Given the description of an element on the screen output the (x, y) to click on. 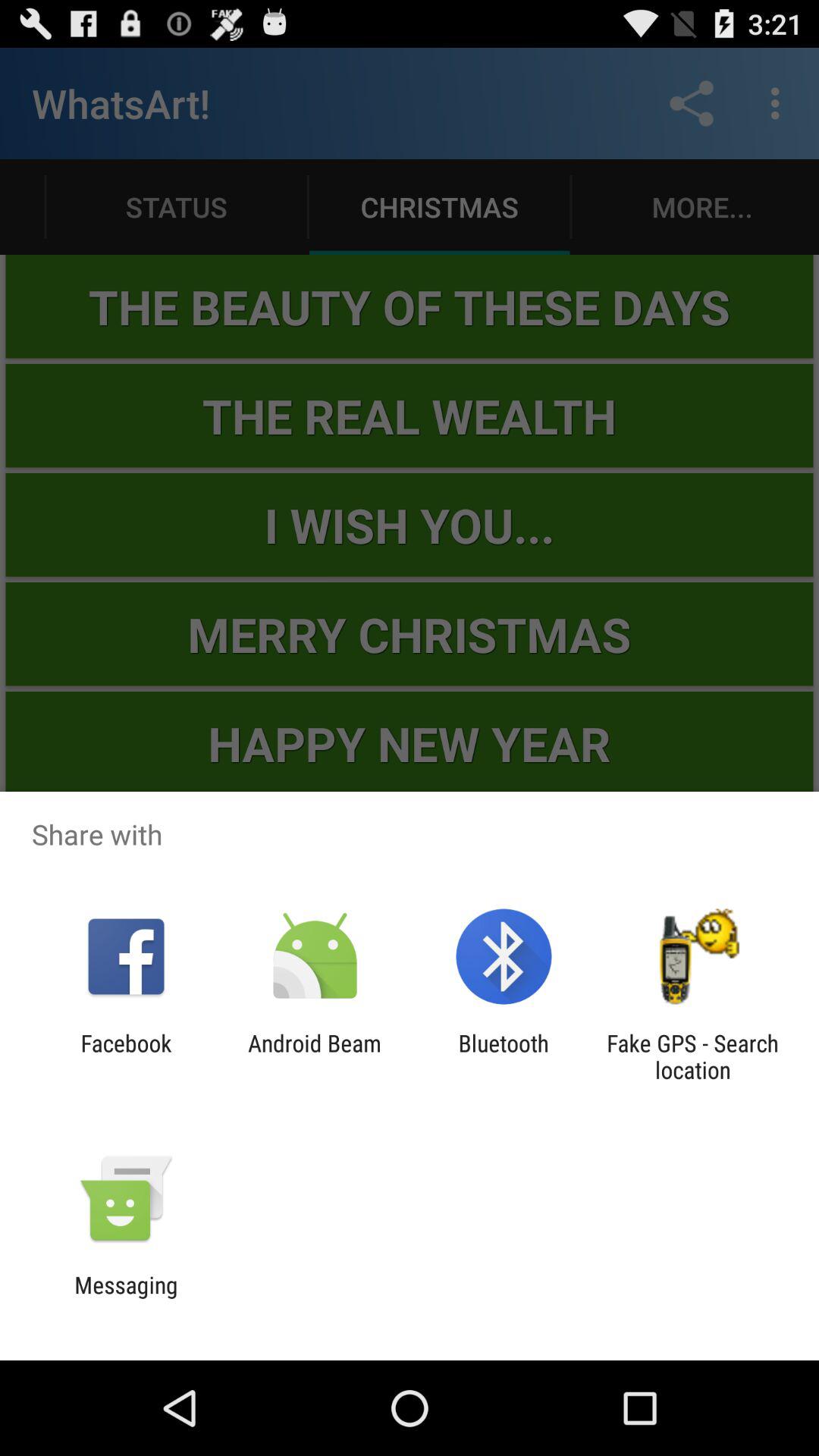
flip to the bluetooth item (503, 1056)
